Given the description of an element on the screen output the (x, y) to click on. 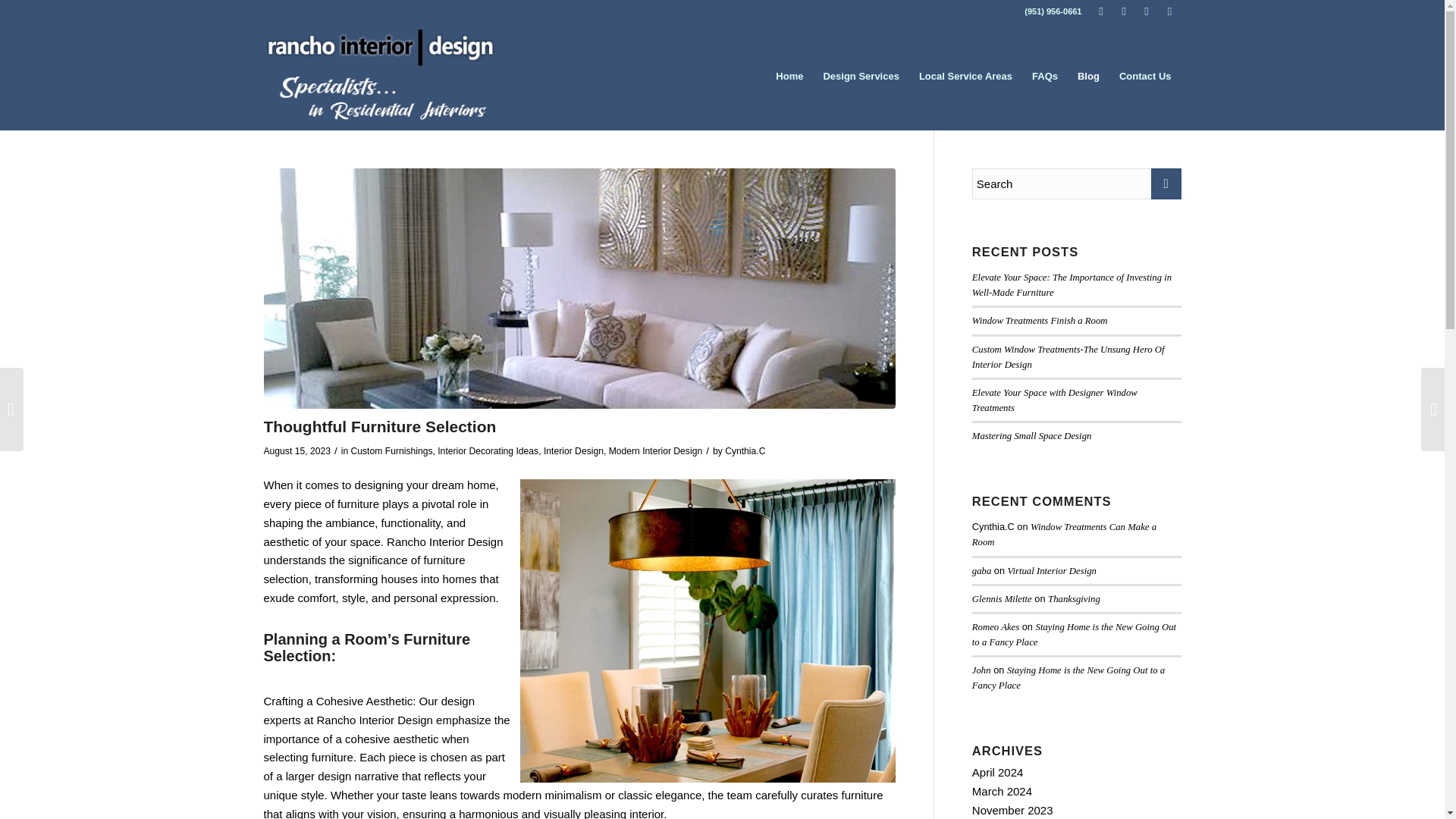
Facebook (1101, 11)
Posts by Cynthia.C (745, 450)
Cynthia.C (745, 450)
Mail (1169, 11)
Design Services (860, 76)
rancho-interior-design-logo (379, 76)
Interior Design (573, 450)
Local Service Areas (965, 76)
Modern Interior Design (655, 450)
Custom Furnishings (391, 450)
